Given the description of an element on the screen output the (x, y) to click on. 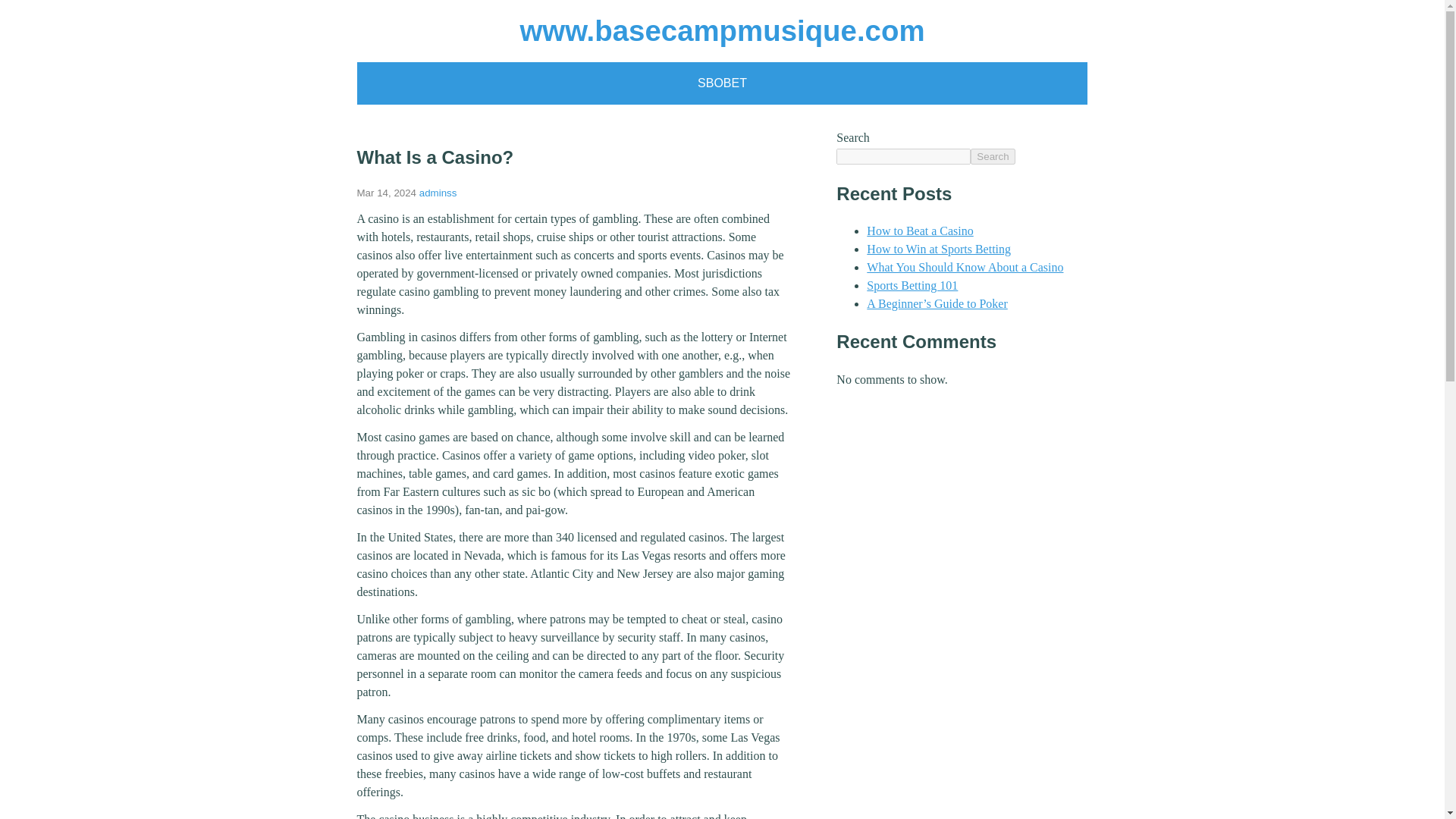
What You Should Know About a Casino (964, 267)
Search (992, 156)
How to Beat a Casino (919, 230)
adminss (438, 193)
Sports Betting 101 (912, 285)
www.basecampmusique.com (721, 30)
How to Win at Sports Betting (938, 248)
SBOBET (721, 82)
